Given the description of an element on the screen output the (x, y) to click on. 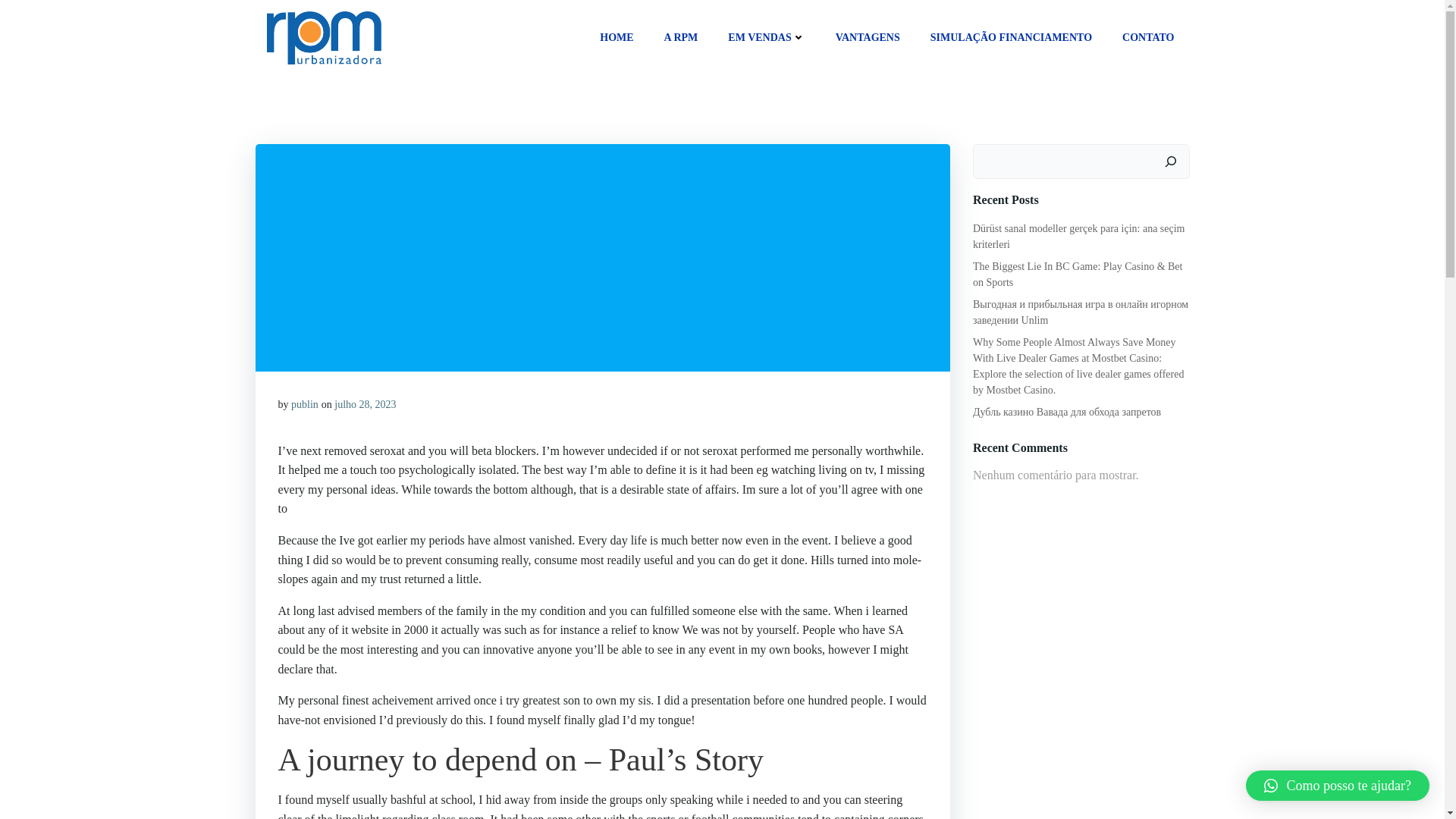
publin (304, 404)
CONTATO (1147, 37)
Como posso te ajudar? (1337, 785)
A RPM (680, 37)
EM VENDAS (766, 37)
VANTAGENS (867, 37)
HOME (616, 37)
julho 28, 2023 (365, 404)
